Given the description of an element on the screen output the (x, y) to click on. 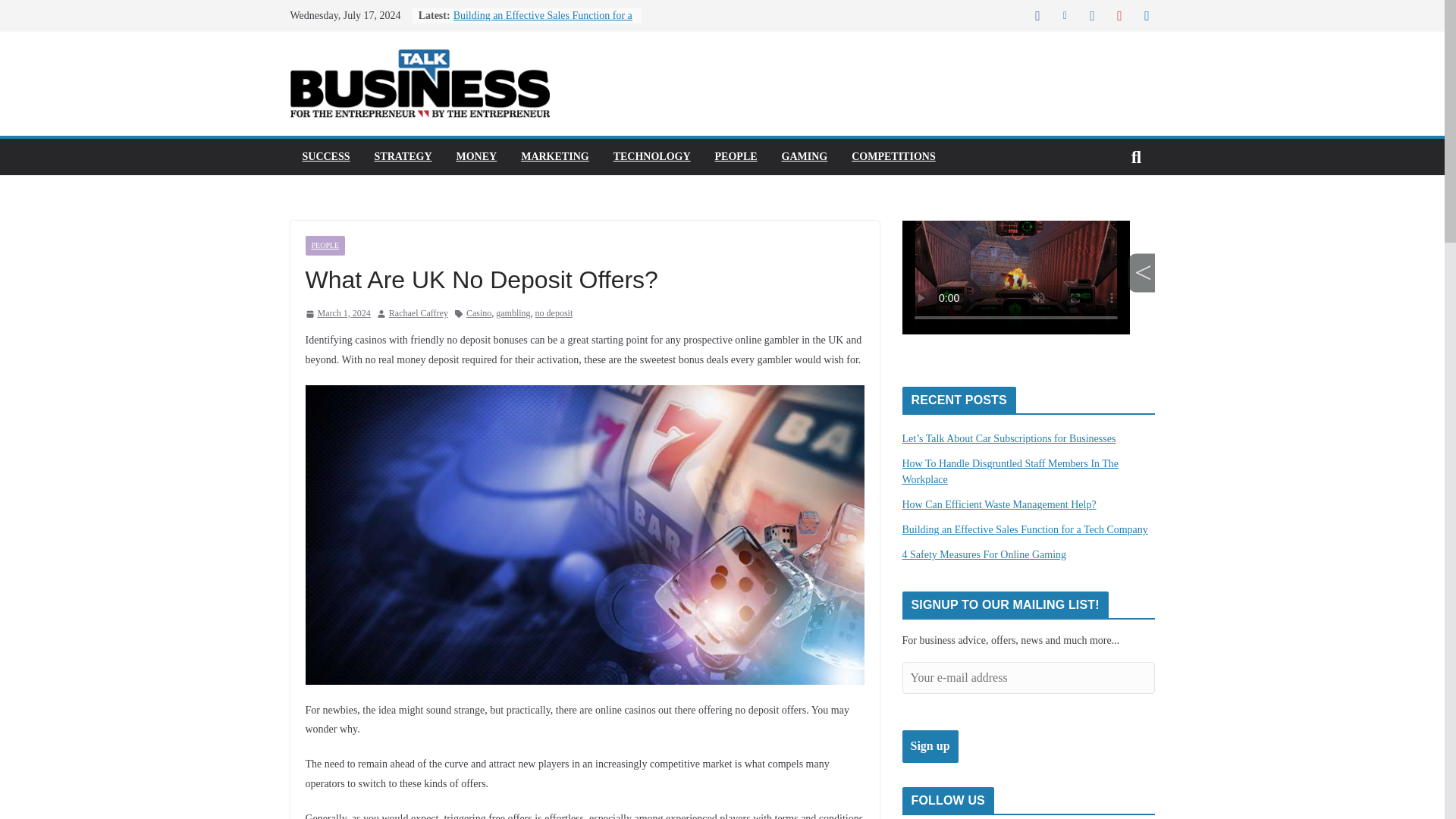
MONEY (477, 156)
STRATEGY (403, 156)
Building an Effective Sales Function for a Tech Company (541, 22)
March 1, 2024 (336, 313)
4 Safety Measures For Online Gaming (984, 554)
How To Handle Disgruntled Staff Members In The Workplace (1010, 471)
Rachael Caffrey (418, 313)
Rachael Caffrey (418, 313)
SUCCESS (325, 156)
Building an Effective Sales Function for a Tech Company (541, 22)
gambling (512, 313)
Building an Effective Sales Function for a Tech Company (1025, 529)
TECHNOLOGY (651, 156)
Sign up (930, 746)
MARKETING (554, 156)
